Given the description of an element on the screen output the (x, y) to click on. 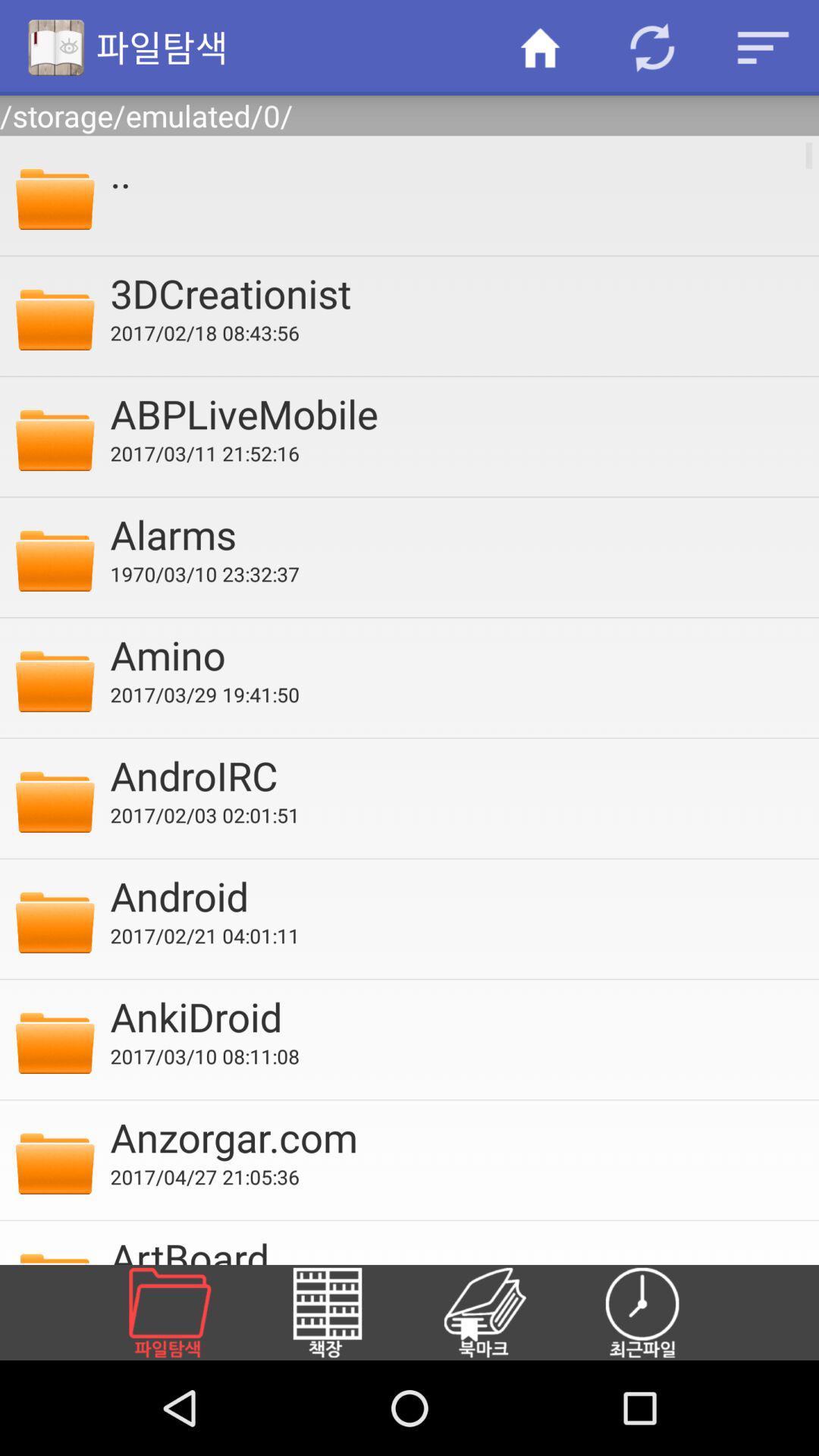
clock icon (660, 1312)
